Given the description of an element on the screen output the (x, y) to click on. 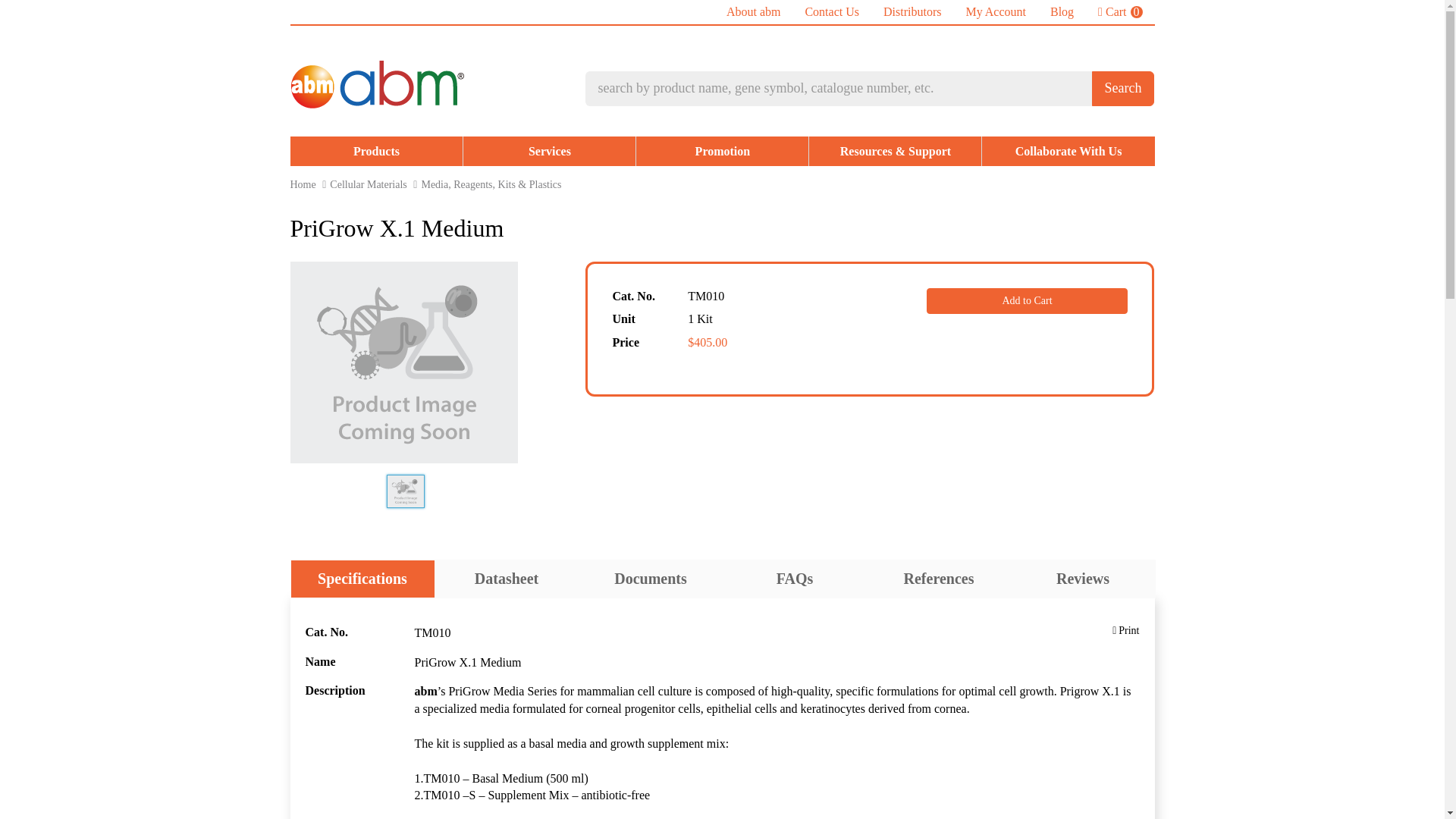
Contact Us (1120, 12)
My Account (831, 12)
Distributors (995, 12)
Collaborate With Us (911, 12)
abm Home page (1067, 151)
Promotion (302, 184)
Blog (722, 151)
Search (1062, 12)
About abm (1123, 88)
Images of PriGrow X.1 Medium (753, 12)
Cellular Materials (406, 491)
Products (368, 184)
Services (376, 151)
